Given the description of an element on the screen output the (x, y) to click on. 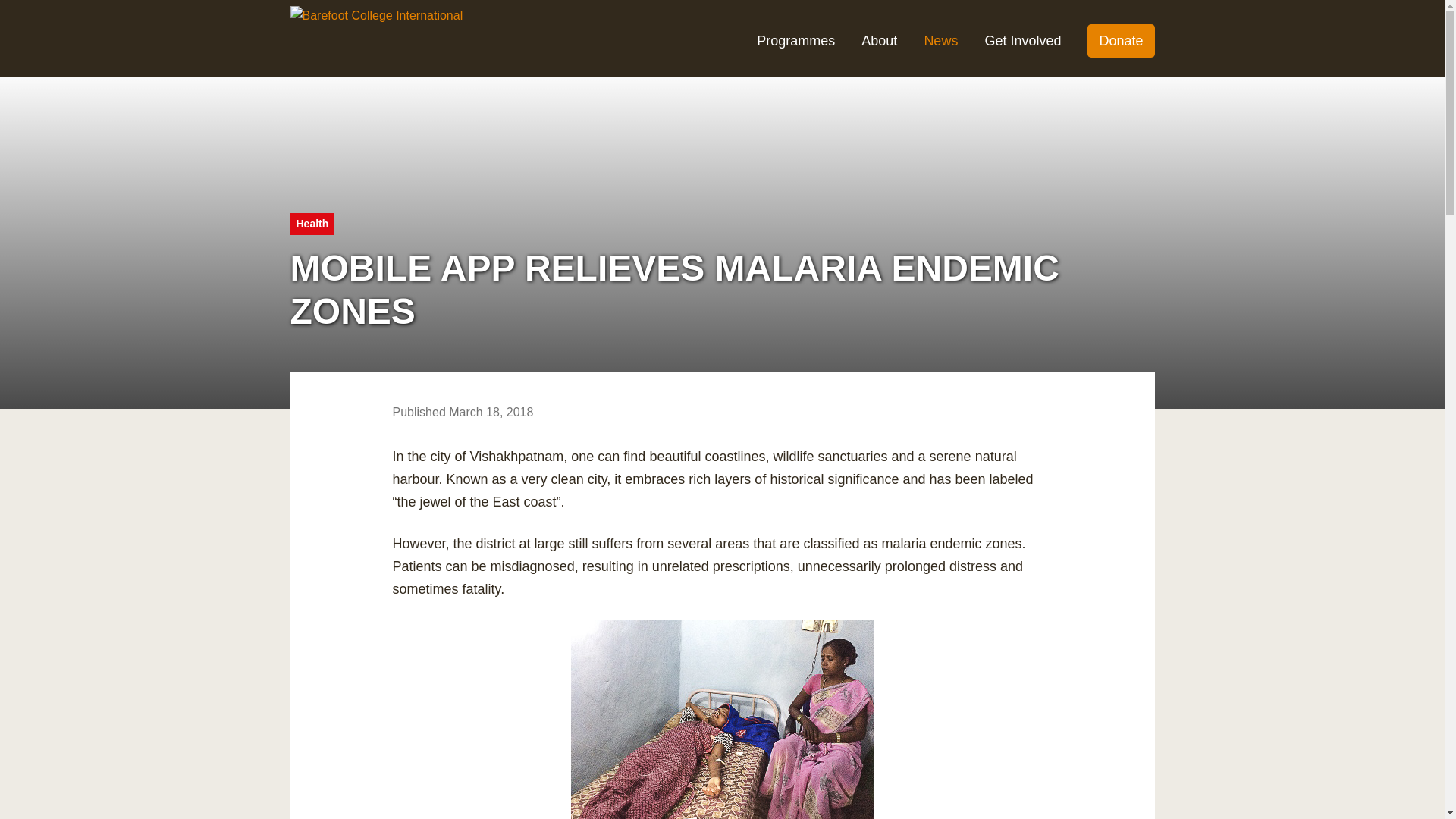
Twitter (1087, 541)
News (940, 40)
About (878, 40)
Programmes (795, 40)
Barefoot College International (376, 14)
Donate (1120, 40)
Health (311, 223)
Twitter share (1087, 541)
Mail (1088, 614)
Get Involved (1022, 40)
